Given the description of an element on the screen output the (x, y) to click on. 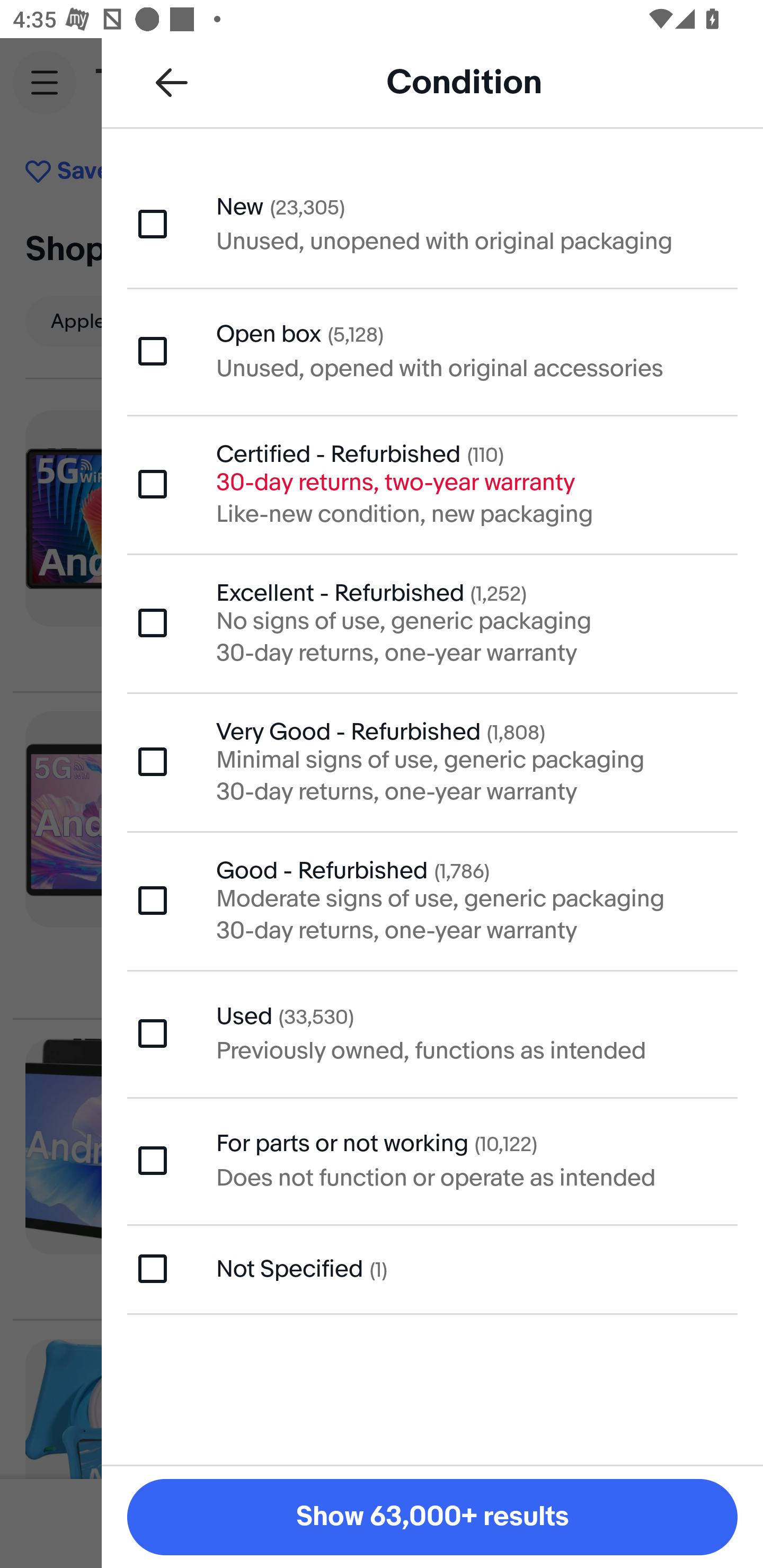
Back to all refinements (171, 81)
Not Specified (1) (432, 1268)
Show 63,000+ results (432, 1516)
